Given the description of an element on the screen output the (x, y) to click on. 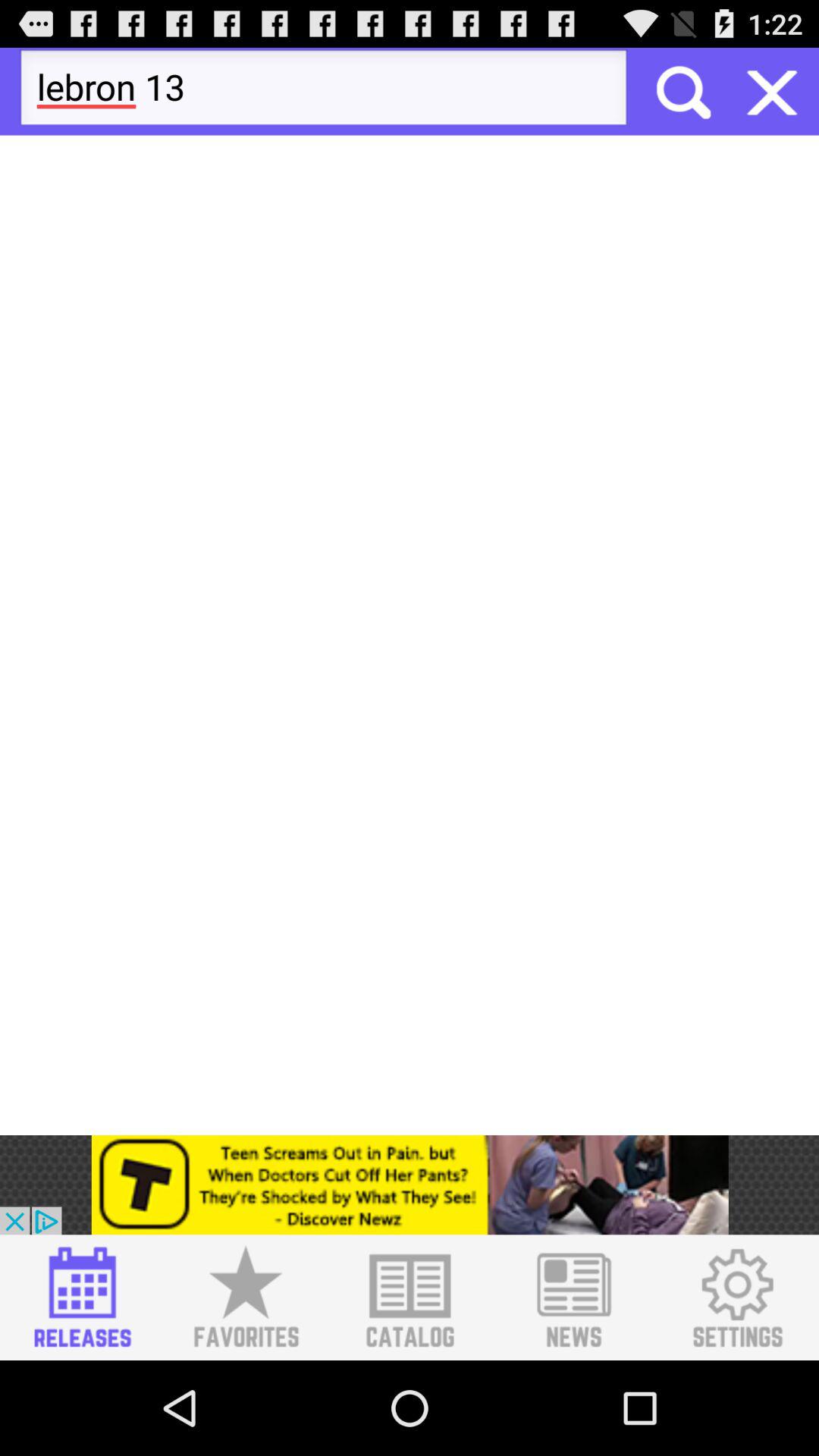
search (682, 91)
